Given the description of an element on the screen output the (x, y) to click on. 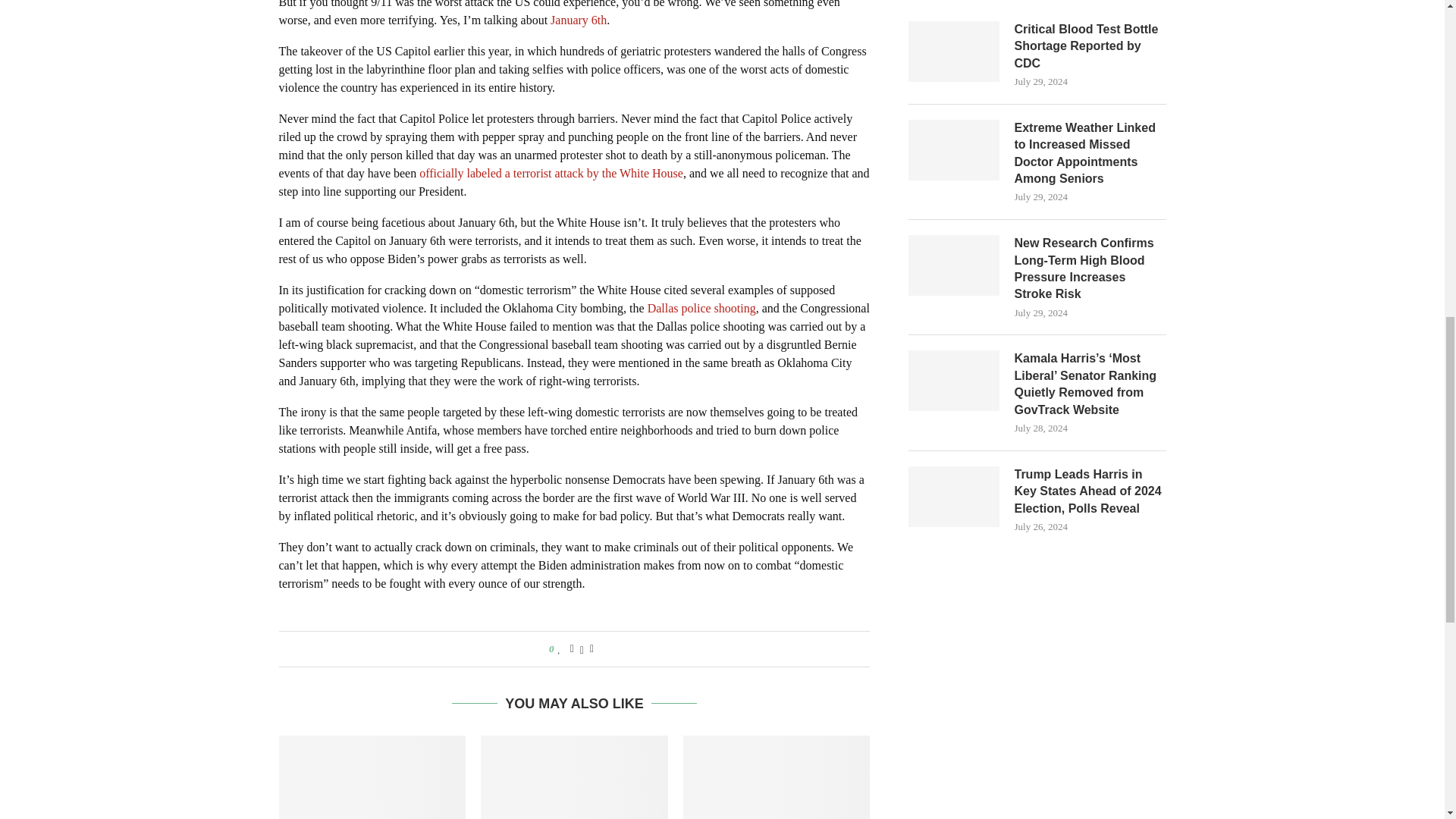
Dallas police shooting (701, 308)
January 6th (578, 19)
officially labeled a terrorist attack by the White House (550, 173)
Critical Blood Test Bottle Shortage Reported by CDC (953, 51)
Critical Blood Test Bottle Shortage Reported by CDC (1090, 46)
